Given the description of an element on the screen output the (x, y) to click on. 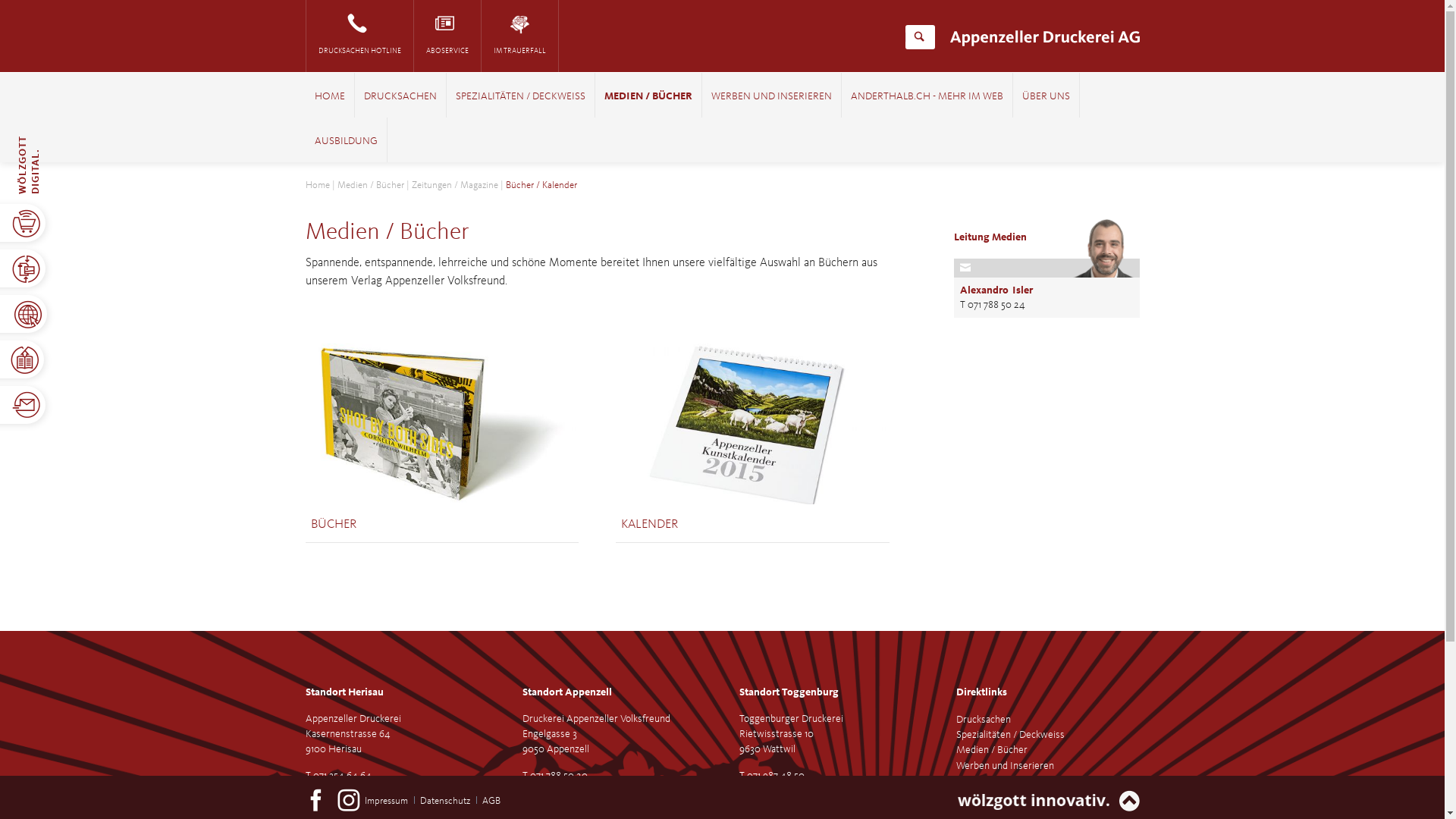
DRUCKSACHEN Element type: text (400, 96)
HOME Element type: text (328, 96)
IM TRAUERFALL Element type: text (518, 36)
Datenupload Element type: text (331, 805)
ANDERTHALB.CH - MEHR IM WEB Element type: text (926, 96)
ABOSERVICE Element type: text (447, 36)
Zeitungen / Magazine Element type: text (454, 185)
WERBEN UND INSERIEREN Element type: text (771, 96)
  Element type: text (499, 793)
Standort Appenzell Element type: text (566, 692)
DRUCKSACHEN HOTLINE Element type: text (359, 36)
admin@dav.ch Element type: text (551, 790)
AGB Element type: text (491, 801)
Datenschutz Element type: text (445, 801)
Stellenangebote & Ausbildung Element type: text (1019, 811)
Home Element type: text (316, 185)
Suchen Element type: text (919, 37)
info@adag.ch Element type: text (332, 790)
Standort Toggenburg Element type: text (787, 692)
Drucksachen Element type: text (982, 719)
Standort Herisau Element type: text (343, 692)
Anderthalb.ch - mehr im Web Element type: text (1017, 780)
info@toggenburgerdruckerei.ch Element type: text (806, 790)
Impressum Element type: text (385, 801)
Werben und Inserieren Element type: text (1004, 765)
AUSBILDUNG Element type: text (344, 141)
KALENDER Element type: text (649, 523)
